Given the description of an element on the screen output the (x, y) to click on. 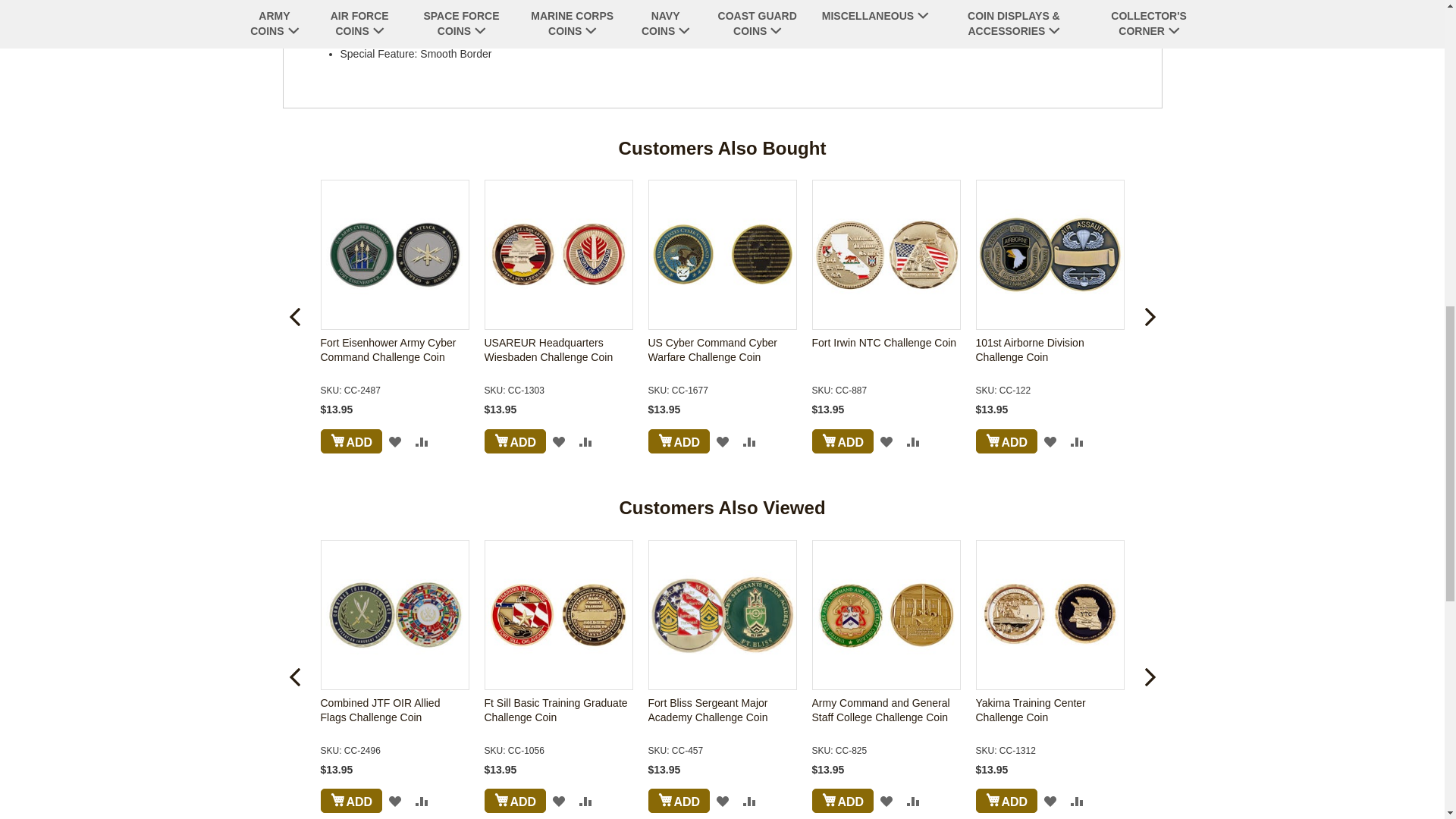
Fort Eisenhower Army Cyber Command Challenge Coin (394, 357)
Customers Also Bought (721, 148)
USAREUR Headquarters Wiesbaden Challenge Coin (557, 254)
USAREUR Headquarters Wiesbaden Challenge Coin (557, 357)
Add (514, 441)
Fort Eisenhower Army Cyber Command Challenge Coin (394, 254)
Add to Compare (422, 440)
Add (350, 441)
Add to Wish List (395, 440)
